Given the description of an element on the screen output the (x, y) to click on. 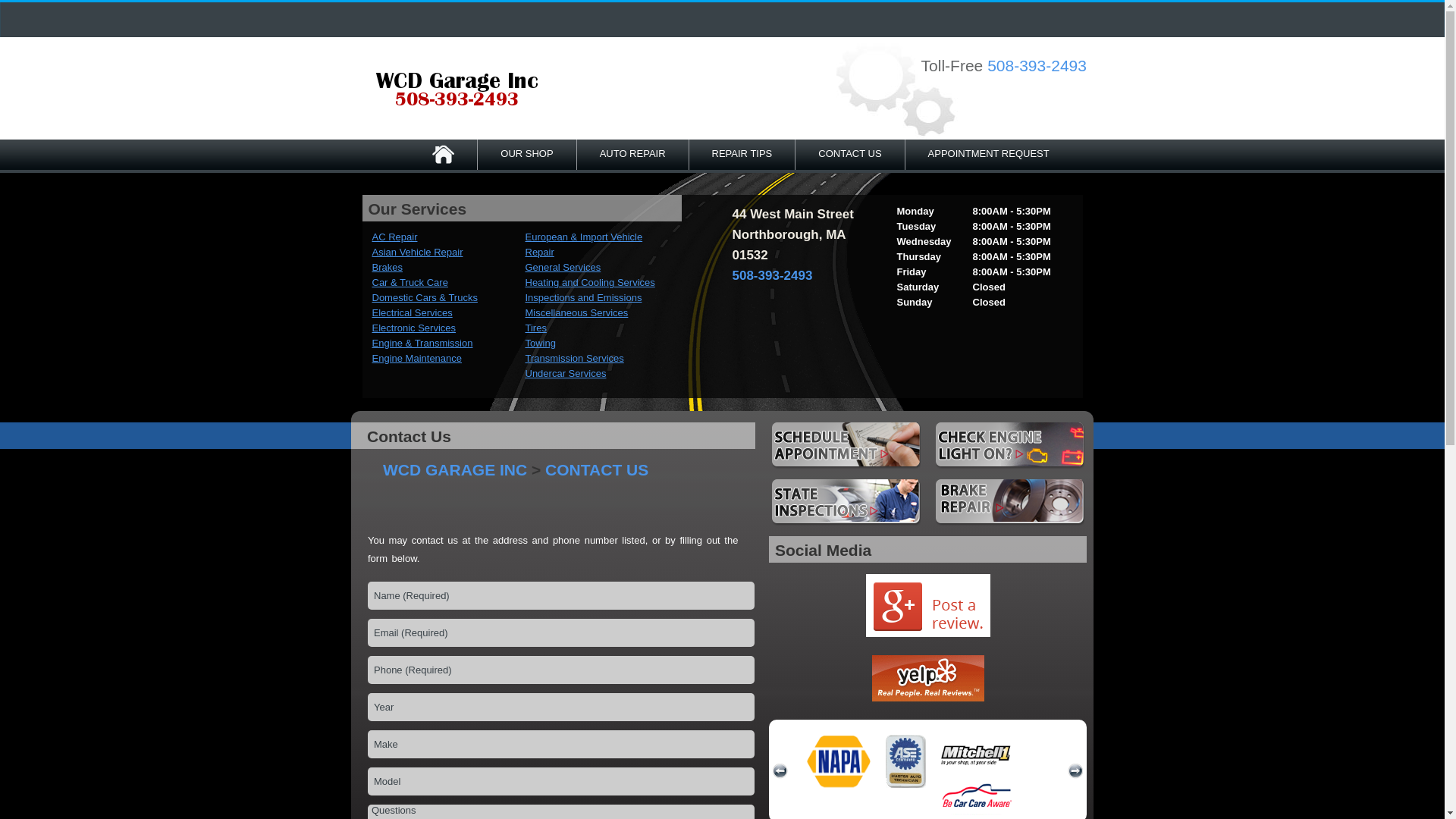
OUR SHOP (526, 154)
General Services (561, 266)
home (456, 90)
Electrical Services (411, 312)
REPAIR TIPS (742, 154)
Asian Vehicle Repair (417, 251)
Brakes (386, 266)
Electronic Services (413, 327)
Heating and Cooling Services (588, 282)
AUTO REPAIR (632, 154)
APPOINTMENT REQUEST (988, 154)
508-393-2493 (1036, 65)
AC Repair (393, 236)
Inspections and Emissions (583, 297)
CONTACT US (849, 154)
